Given the description of an element on the screen output the (x, y) to click on. 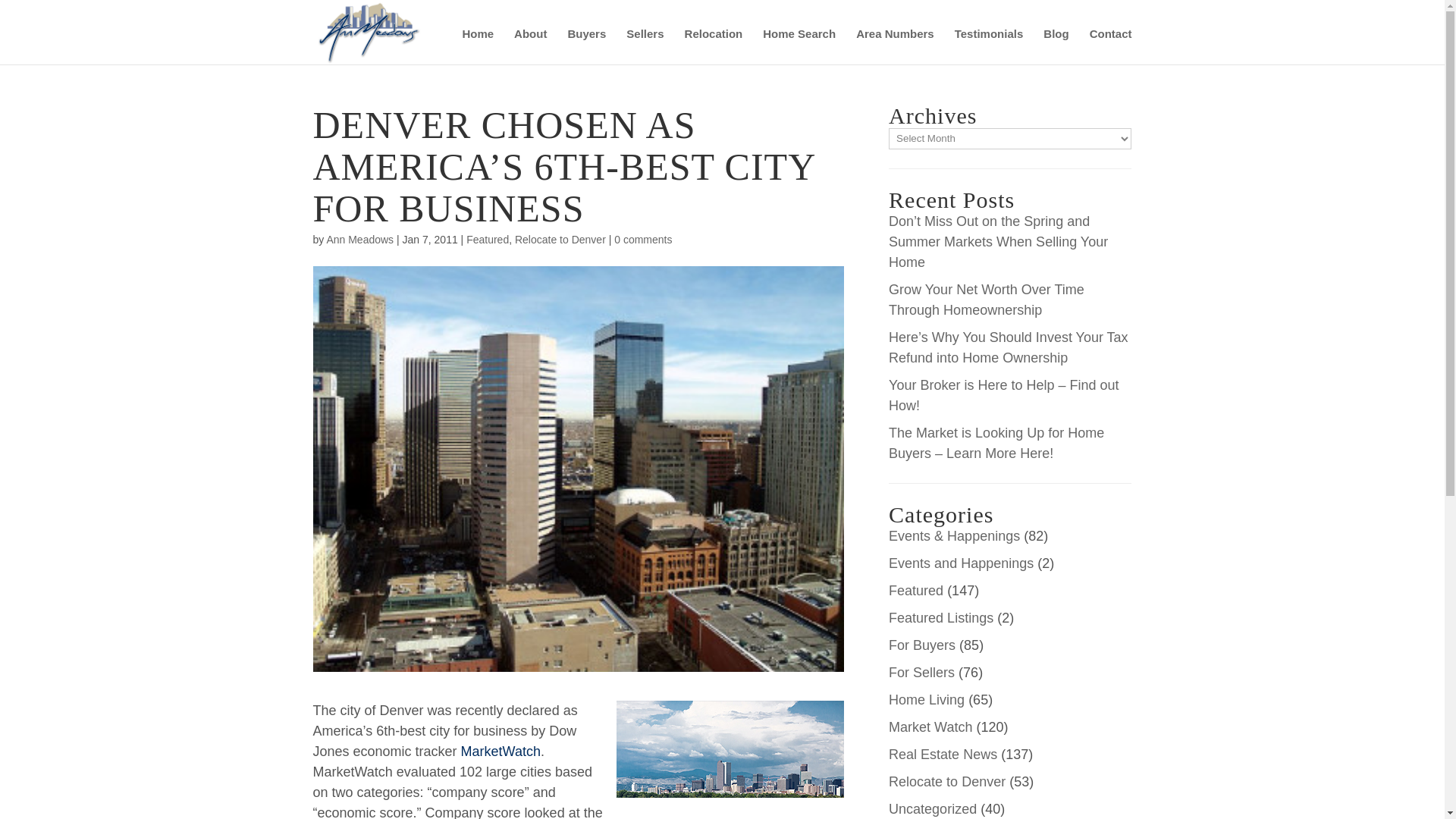
Sellers (644, 46)
Testimonials (989, 46)
For Buyers (921, 645)
MarketWatch (500, 751)
About (530, 46)
Home Search (798, 46)
Featured (915, 590)
Buyers (586, 46)
Posts by Ann Meadows (359, 239)
Featured (486, 239)
Grow Your Net Worth Over Time Through Homeownership (986, 299)
Relocate to Denver (947, 781)
Relocation (713, 46)
Events and Happenings (960, 563)
Ann Meadows (359, 239)
